Given the description of an element on the screen output the (x, y) to click on. 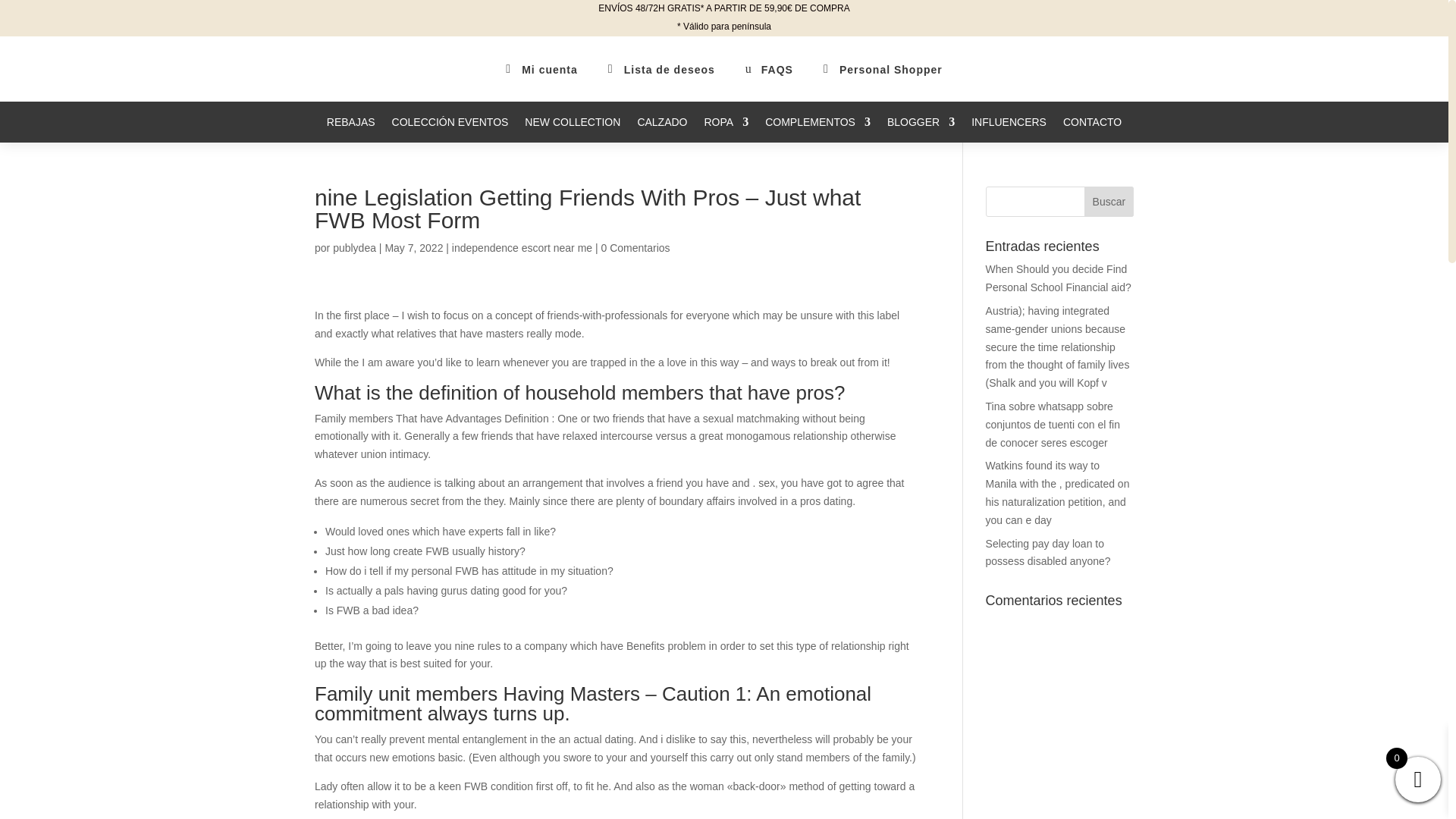
Buscar (1109, 201)
REBAJAS (350, 129)
CALZADO (662, 129)
CONTACTO (1091, 129)
Mensajes de publydea (354, 247)
ROPA (725, 129)
INFLUENCERS (1008, 129)
COMPLEMENTOS (817, 129)
BLOGGER (920, 129)
Mi cuenta (549, 69)
NEW COLLECTION (572, 129)
Lista de deseos (669, 69)
u (751, 69)
FAQS (777, 69)
Personal Shopper (891, 69)
